Given the description of an element on the screen output the (x, y) to click on. 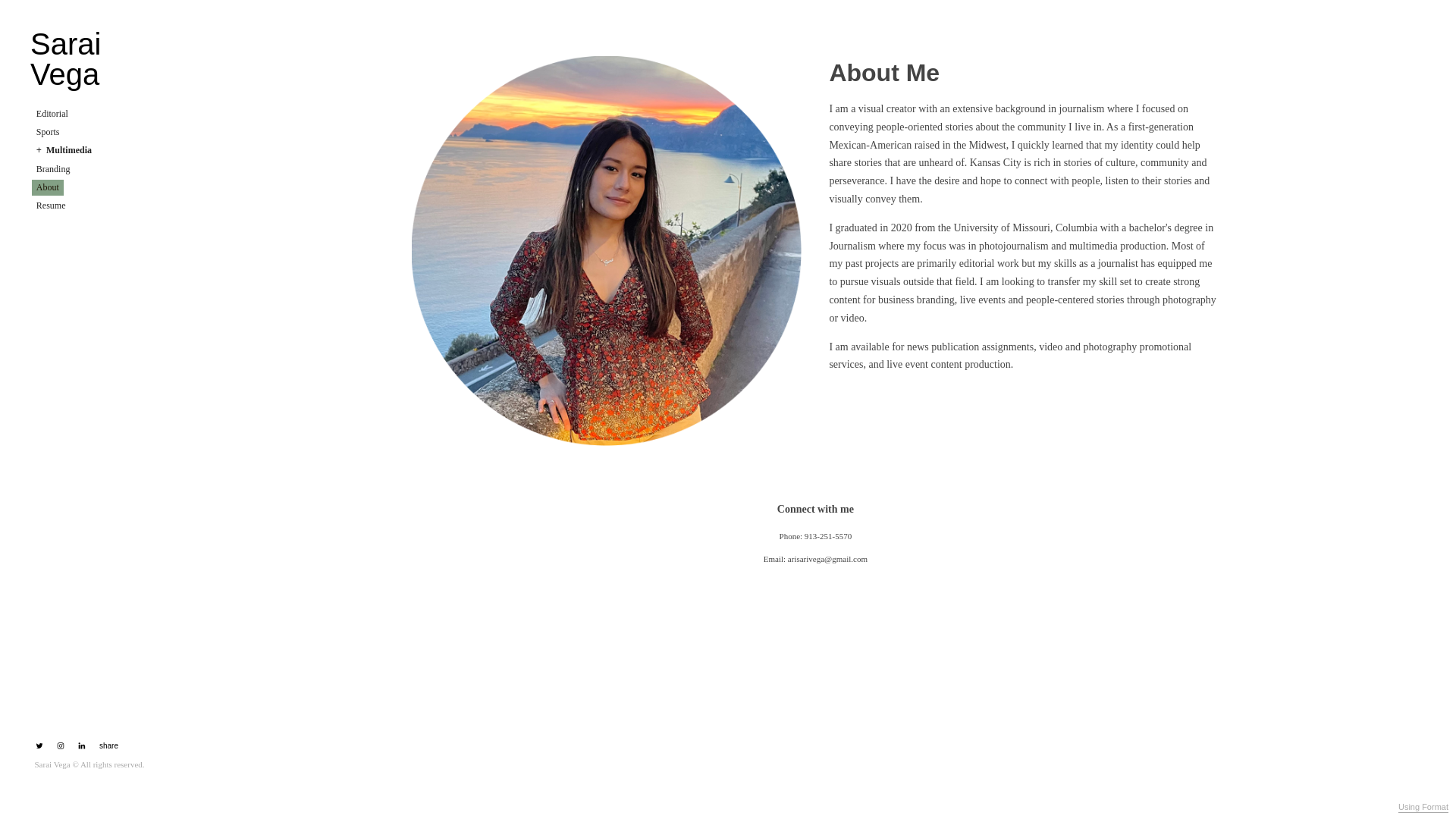
share (106, 745)
Branding (53, 168)
Sarai Vega (95, 58)
Resume (50, 205)
Editorial (52, 113)
About (48, 186)
Multimedia (63, 150)
Using Format (1422, 807)
Sports (48, 131)
